Given the description of an element on the screen output the (x, y) to click on. 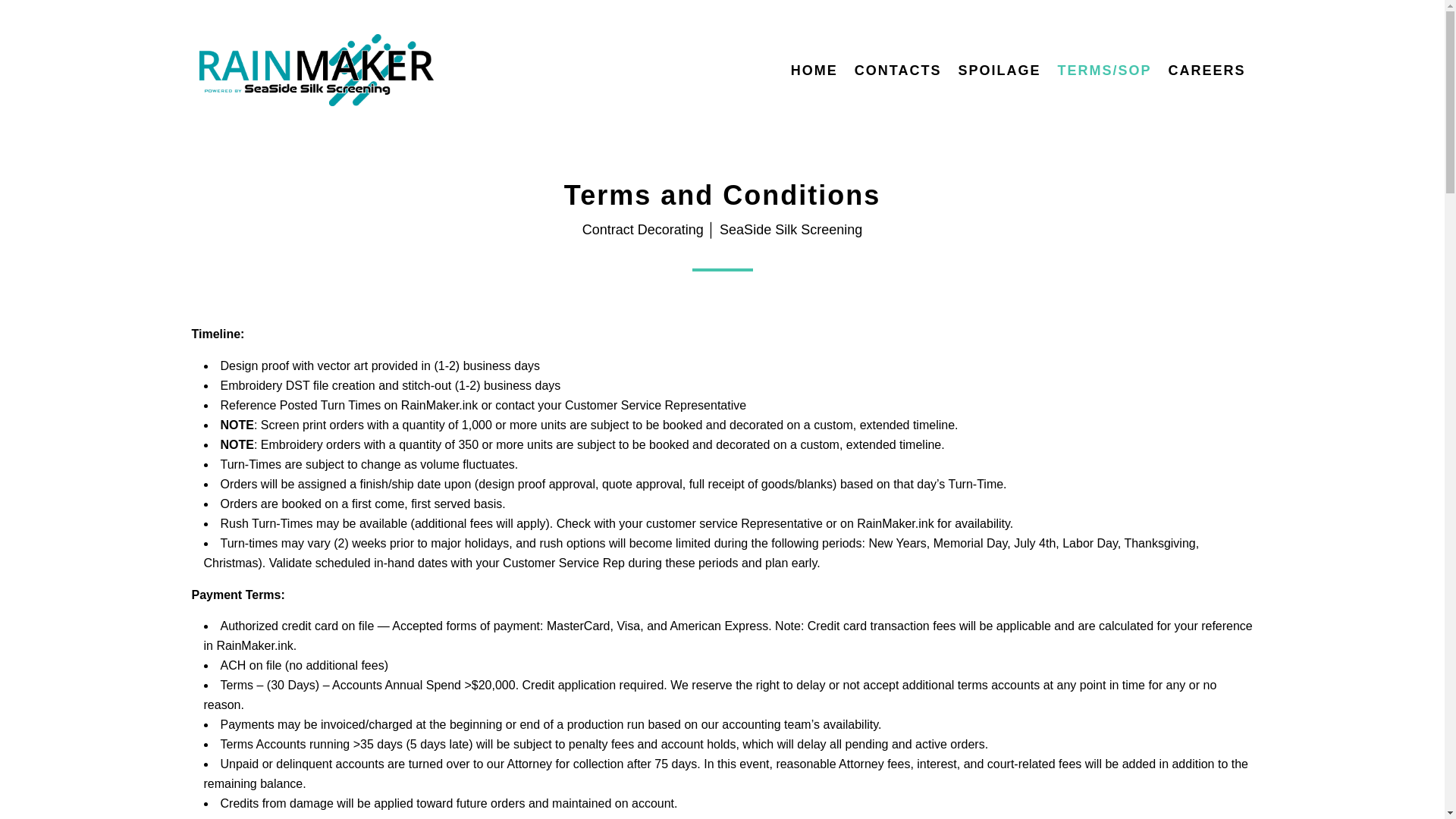
SPOILAGE (999, 70)
CONTACTS (898, 70)
CAREERS (1205, 70)
